Given the description of an element on the screen output the (x, y) to click on. 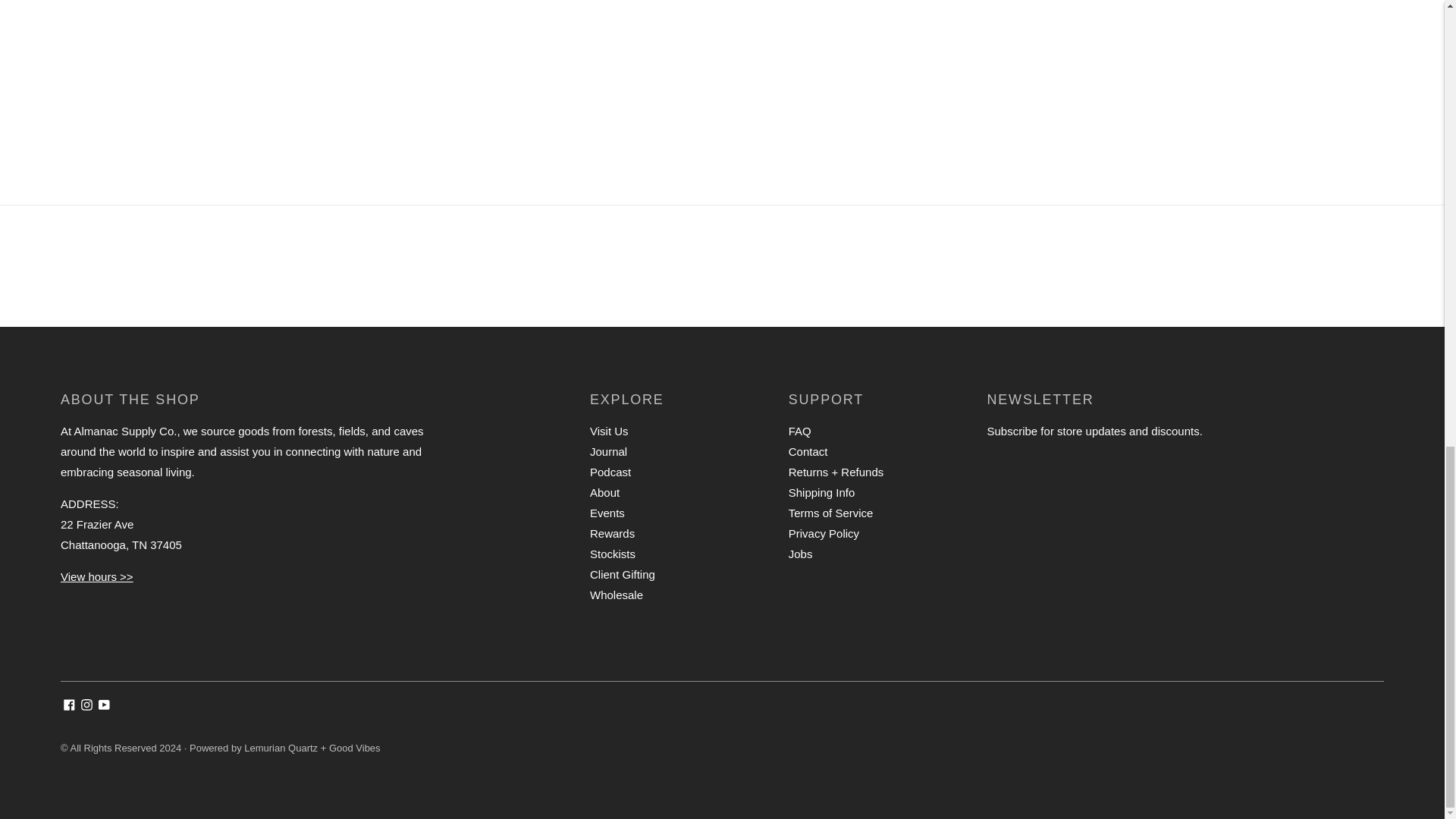
Visit (97, 576)
